Given the description of an element on the screen output the (x, y) to click on. 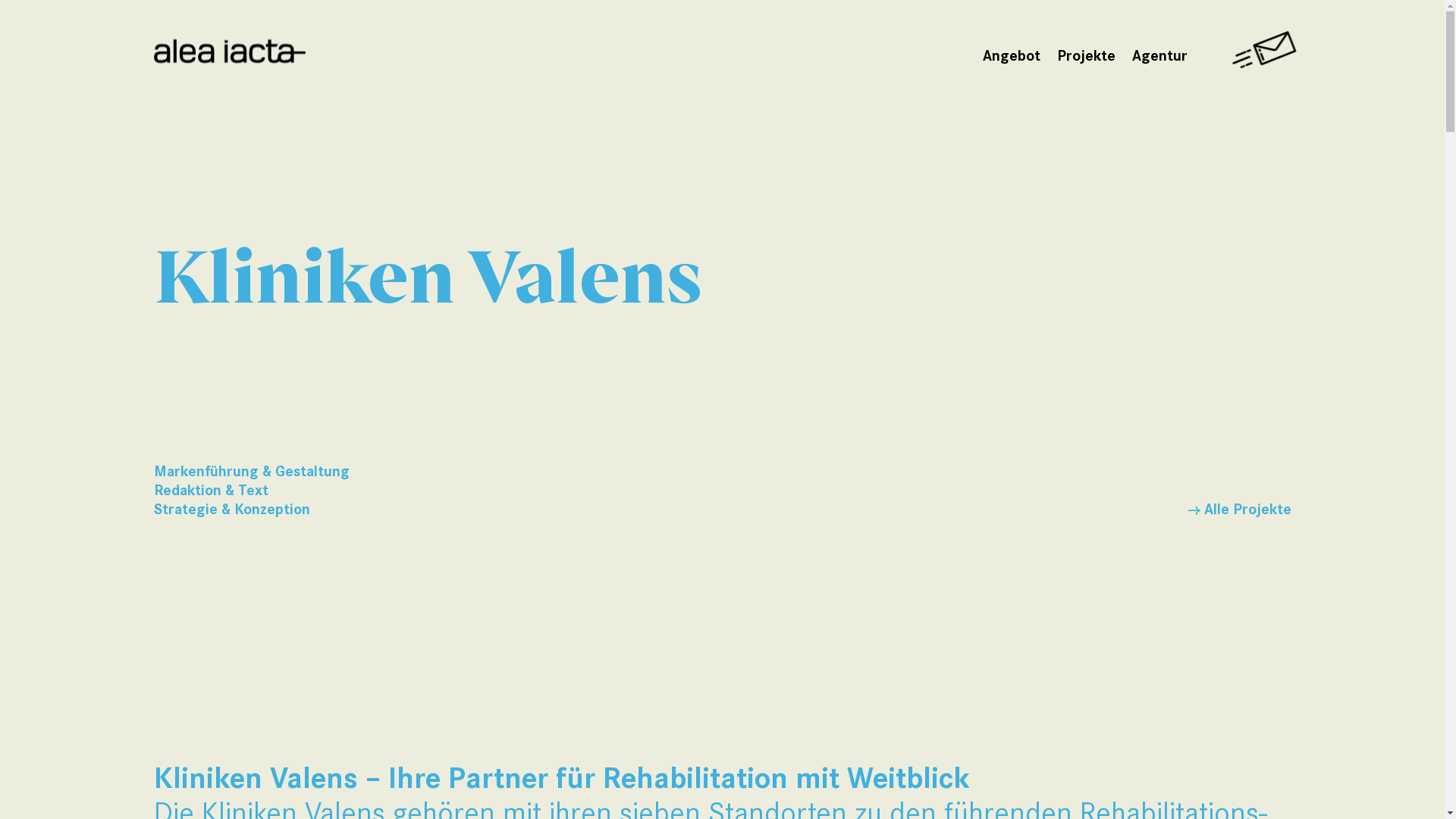
kdgs.ch Element type: text (772, 553)
Datenschutz & Impressum Element type: text (1218, 684)
Alle Projekte Element type: text (1239, 509)
up! Element type: text (1242, 616)
LinkedIn Element type: text (667, 682)
Facebook Element type: text (776, 682)
Newsletter Element type: text (552, 682)
schalterundwalter.ch Element type: text (1109, 527)
Agentur Element type: text (1158, 57)
+41 71 244 66 00 Element type: text (521, 553)
info@alea-iacta.ch Element type: text (229, 550)
+41 71 244 66 00 Element type: text (231, 527)
Projekte Element type: text (1086, 57)
Logo alea iacta Element type: hover (228, 53)
Instagram Element type: text (893, 682)
pr@alea-iacta.ch Element type: text (513, 577)
Angebot Element type: text (1011, 57)
